Given the description of an element on the screen output the (x, y) to click on. 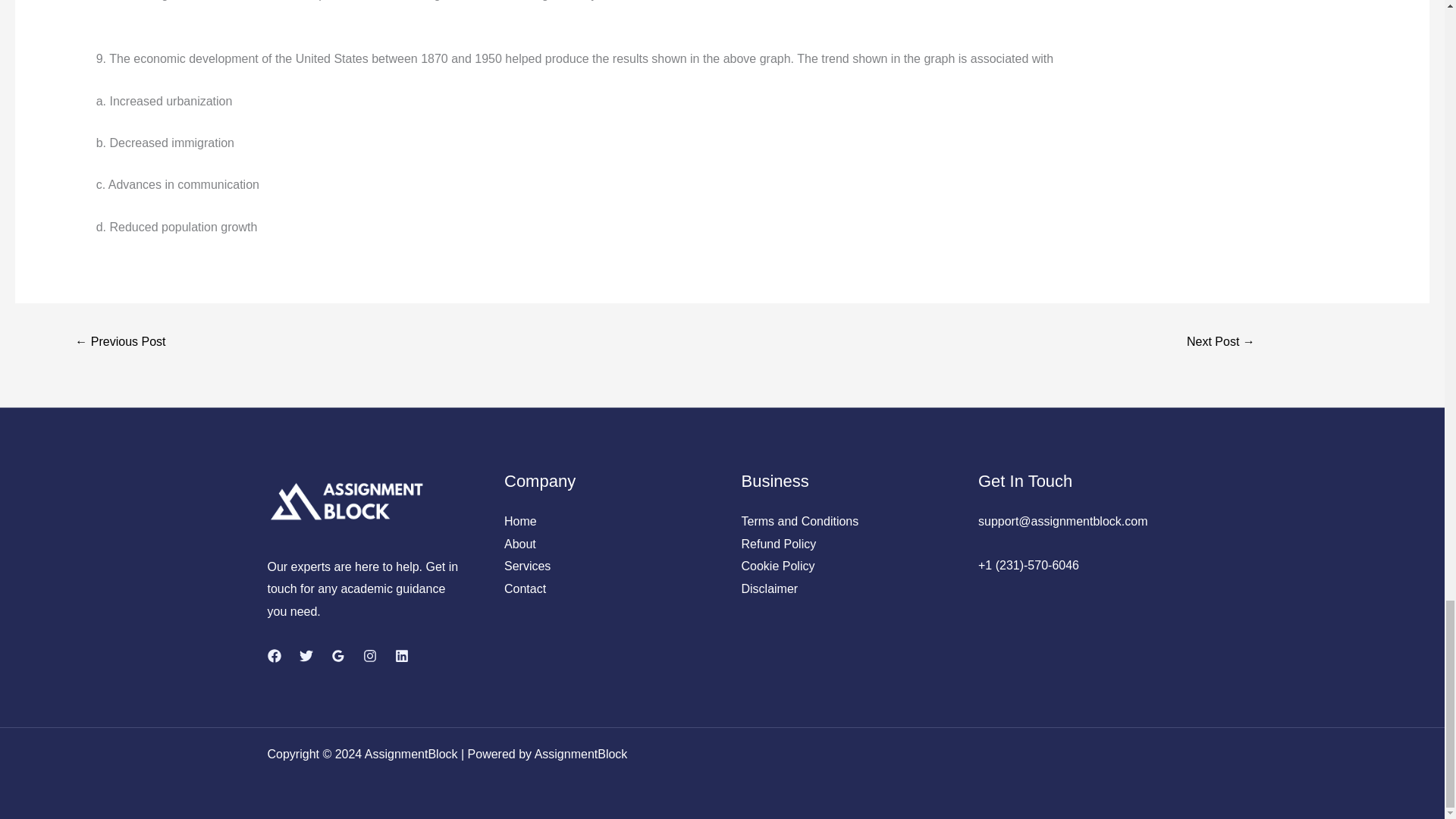
Contact (524, 588)
Terms and Conditions (800, 521)
Home (520, 521)
Disclaimer (769, 588)
Refund Policy (778, 543)
Cookie Policy (778, 565)
Services (526, 565)
About (519, 543)
